Given the description of an element on the screen output the (x, y) to click on. 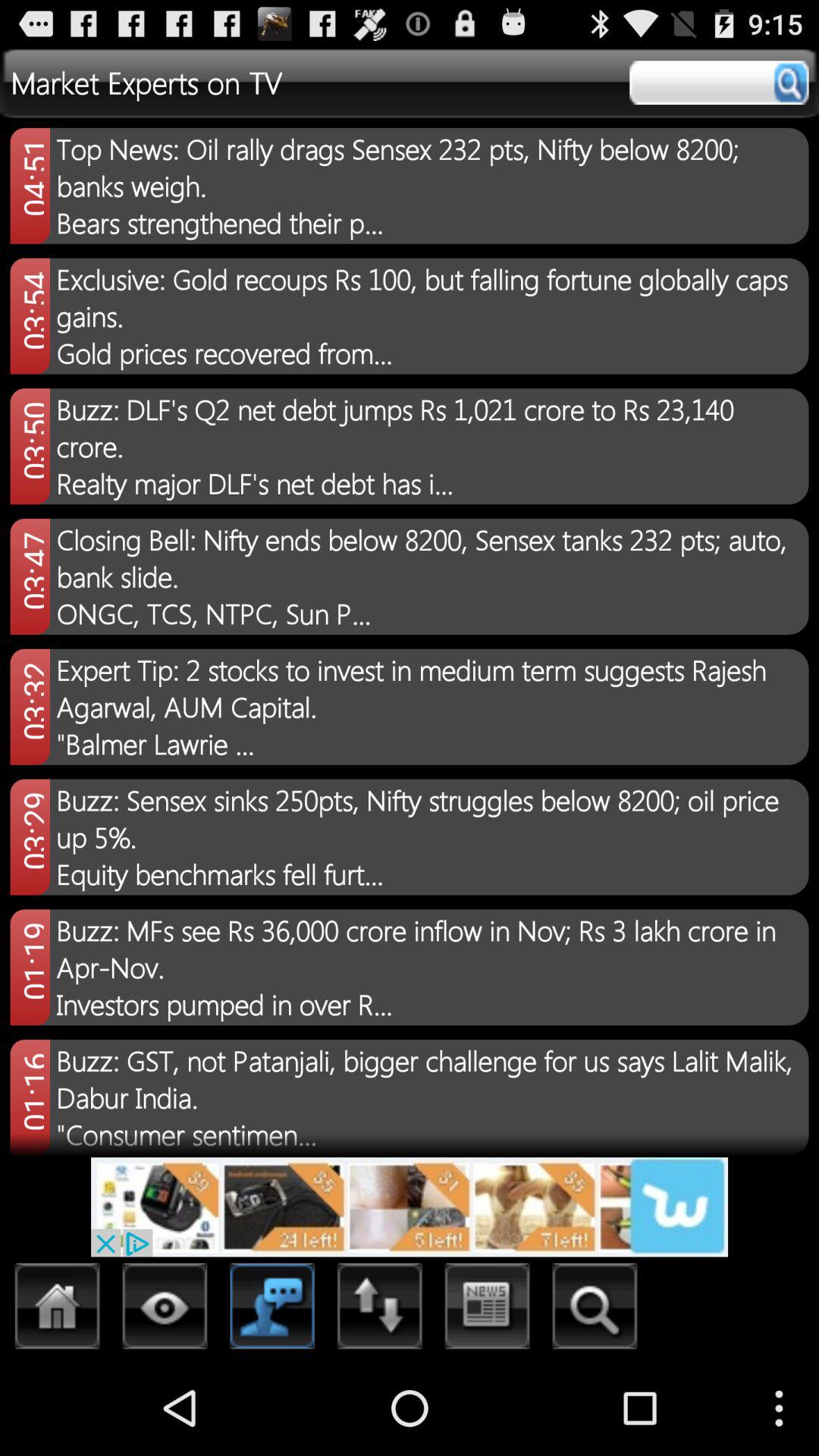
home button (57, 1310)
